Given the description of an element on the screen output the (x, y) to click on. 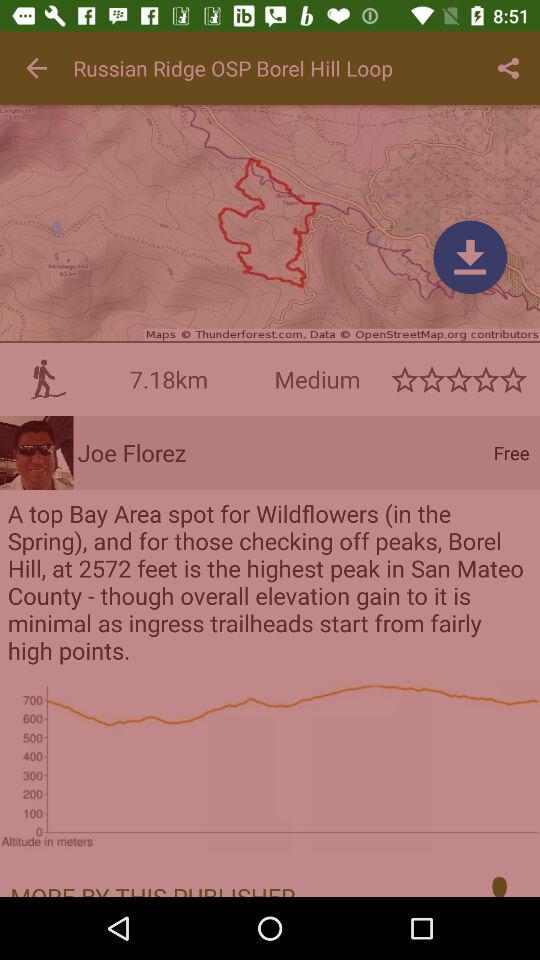
click icon at the top left corner (36, 68)
